Given the description of an element on the screen output the (x, y) to click on. 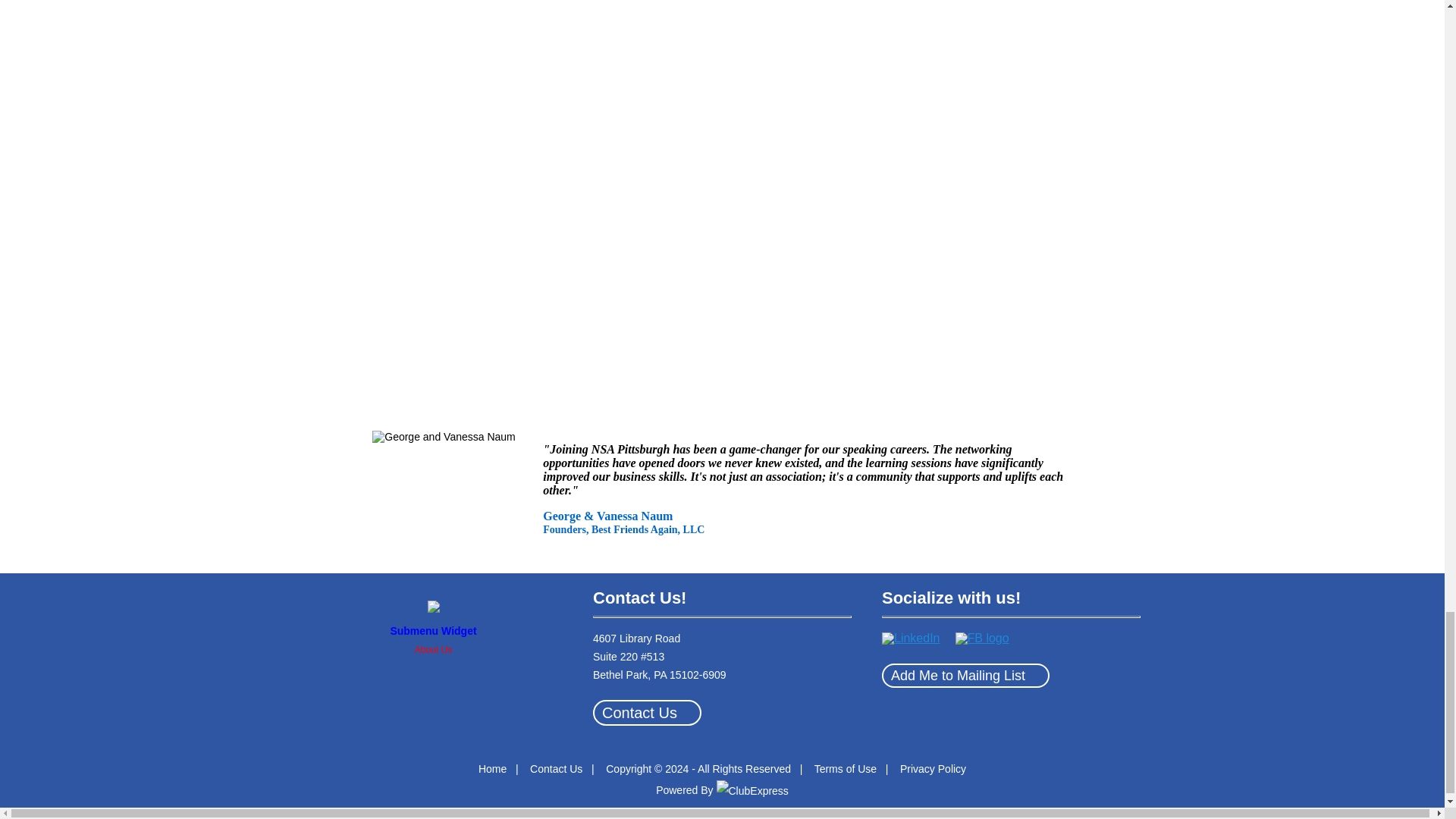
Privacy Policy (932, 768)
Contact Us (555, 768)
Contact Us (646, 712)
Add Me to Mailing List (965, 675)
Powered By  (722, 789)
Terms of Use (844, 768)
George and Vanessa Naum (453, 492)
LinkedIn (911, 638)
FB logo (982, 638)
Home (492, 768)
